Given the description of an element on the screen output the (x, y) to click on. 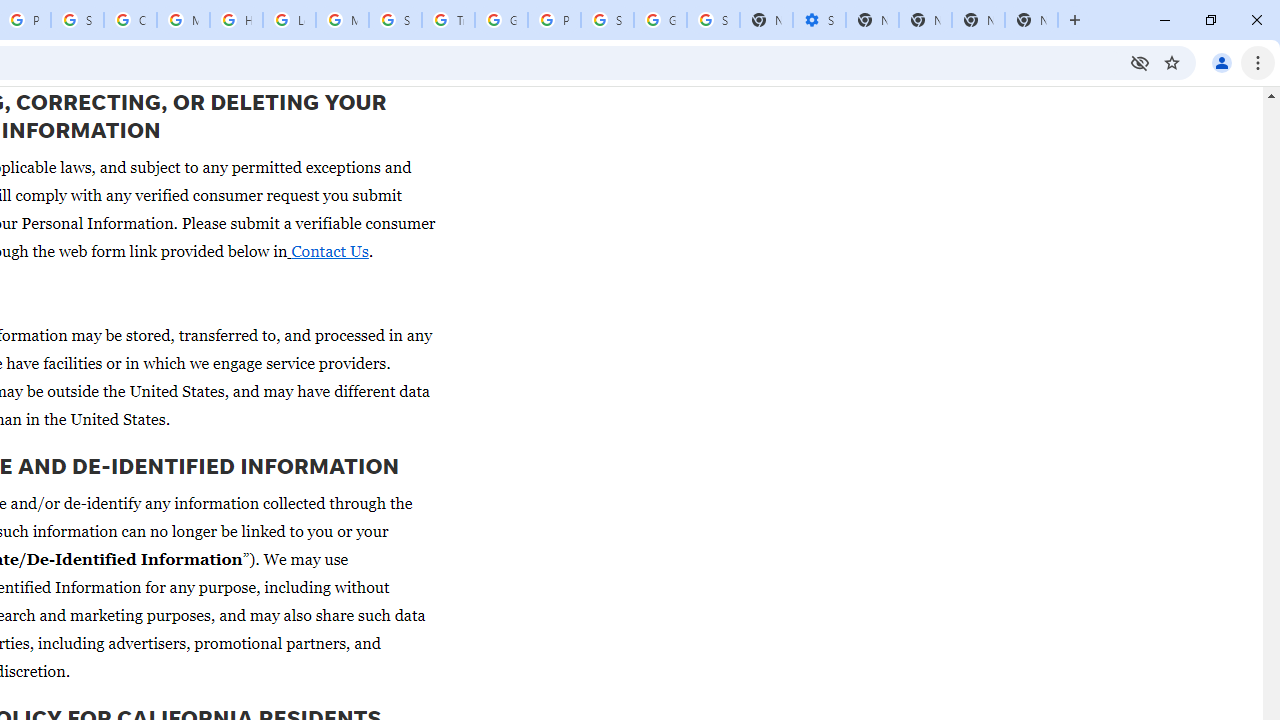
Search our Doodle Library Collection - Google Doodles (395, 20)
Sign in - Google Accounts (713, 20)
Contact Us (329, 250)
Google Cybersecurity Innovations - Google Safety Center (660, 20)
Sign in - Google Accounts (77, 20)
Google Ads - Sign in (501, 20)
